Given the description of an element on the screen output the (x, y) to click on. 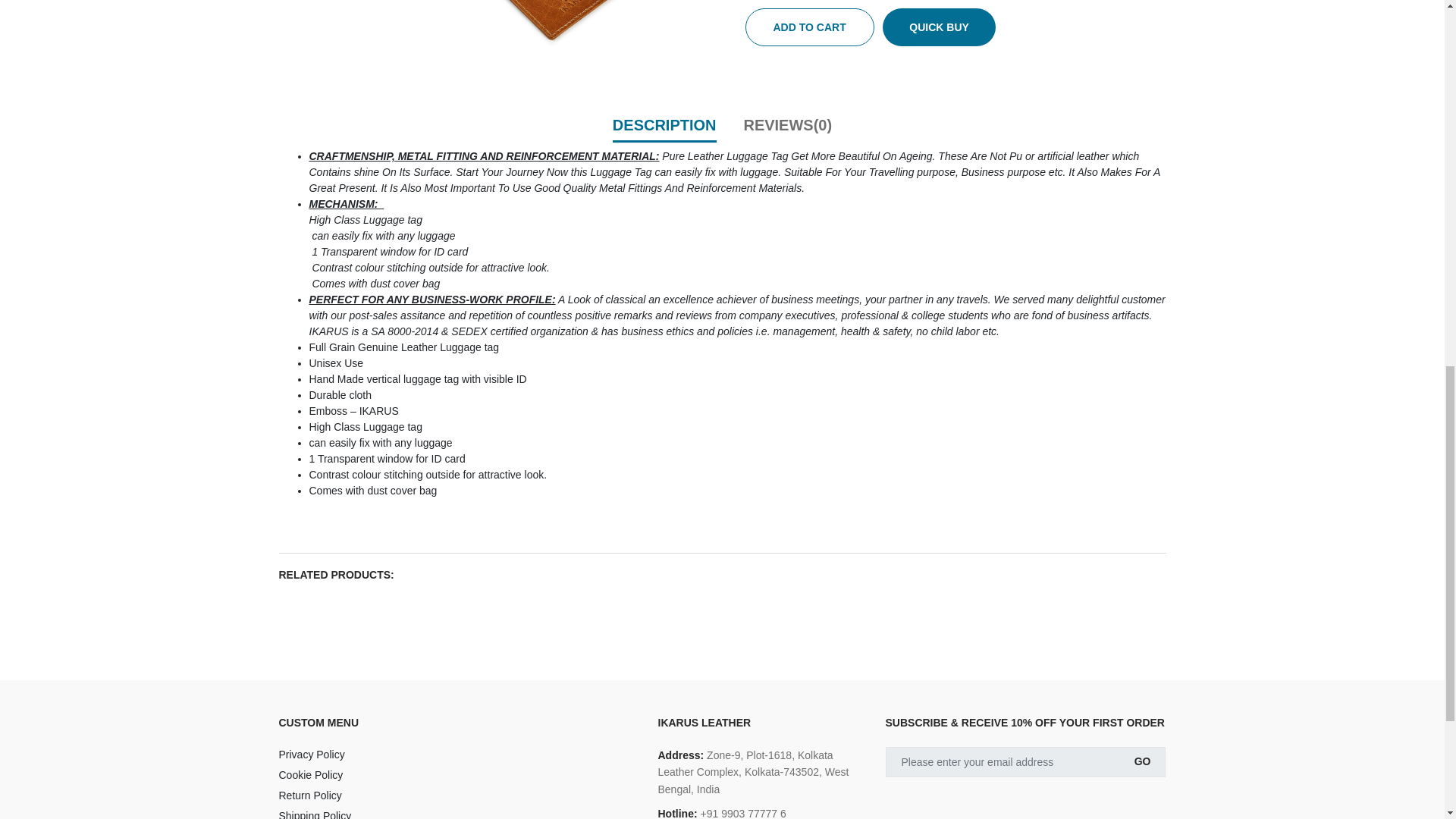
DESCRIPTION (664, 124)
Privacy Policy (456, 754)
Cookie Policy (456, 774)
Return Policy (456, 795)
ADD TO CART (808, 26)
QUICK BUY (938, 26)
